Given the description of an element on the screen output the (x, y) to click on. 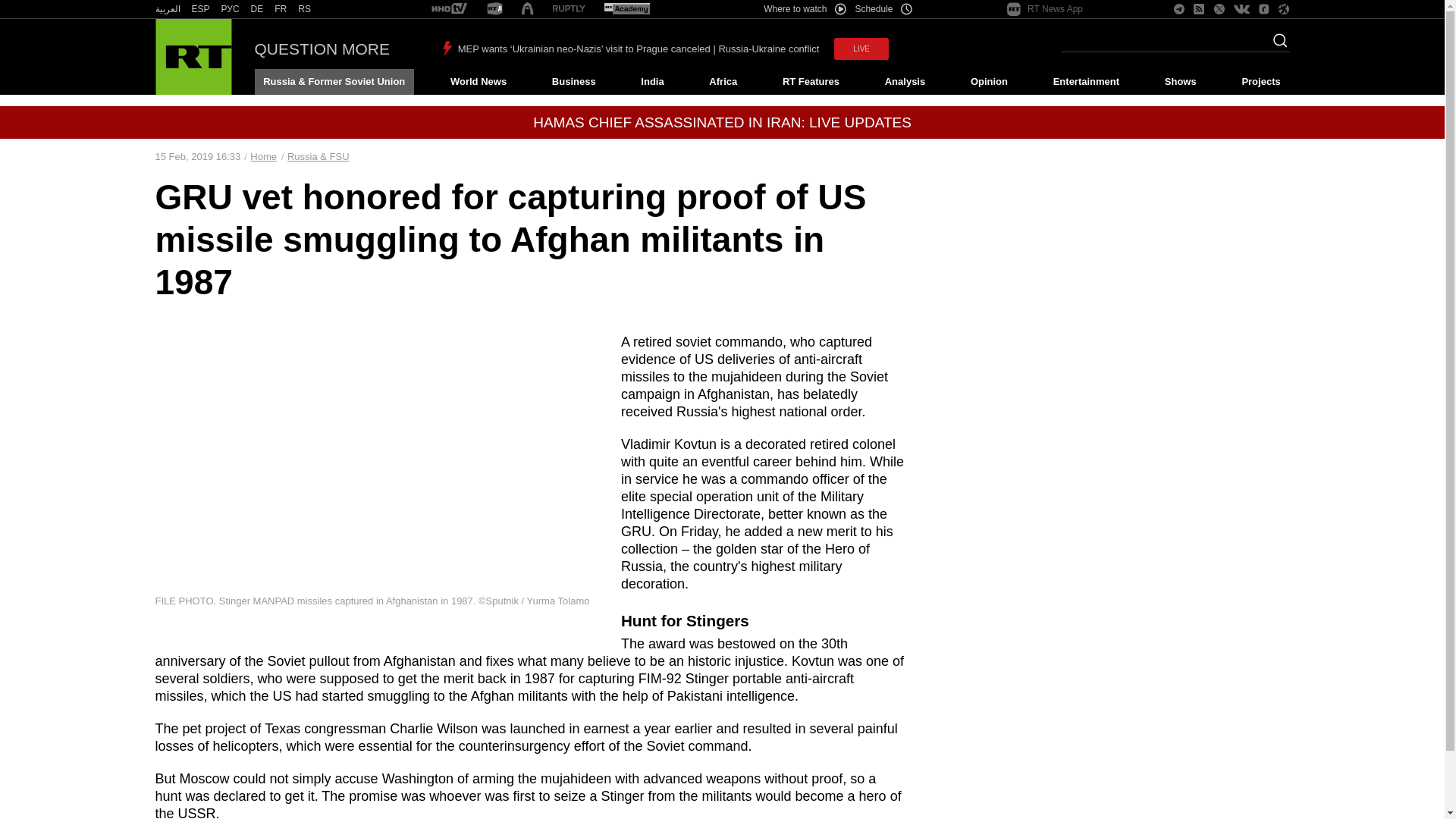
Schedule (884, 9)
RT Features (810, 81)
RT  (569, 8)
Business (573, 81)
RT  (448, 9)
RT  (626, 9)
Opinion (988, 81)
Shows (1180, 81)
RT  (230, 9)
RS (304, 9)
RT  (304, 9)
India (651, 81)
RT  (166, 9)
RT  (494, 9)
DE (256, 9)
